Given the description of an element on the screen output the (x, y) to click on. 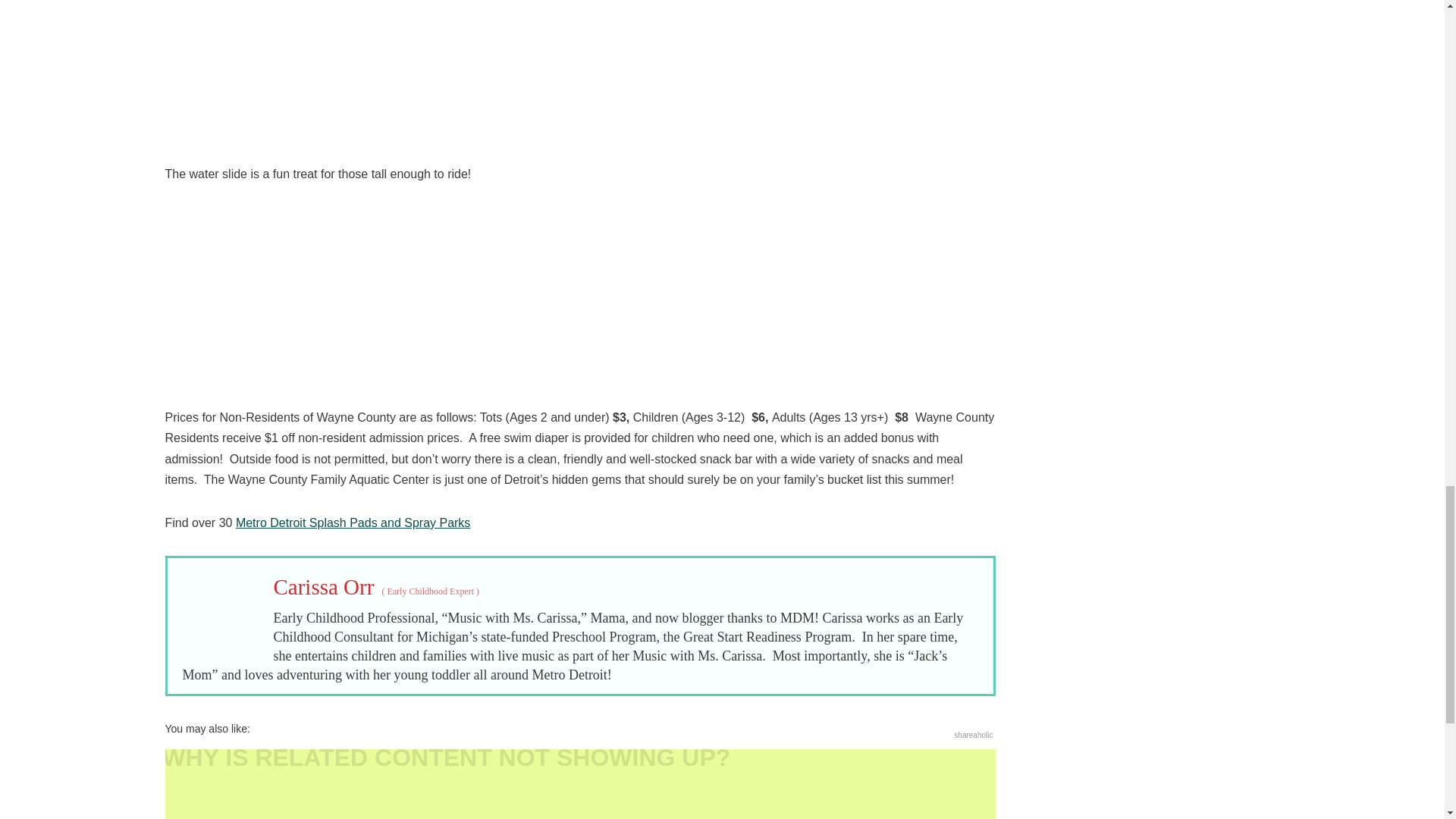
Website Tools by Shareaholic (972, 735)
Why is Related Content not showing up? (580, 784)
